Given the description of an element on the screen output the (x, y) to click on. 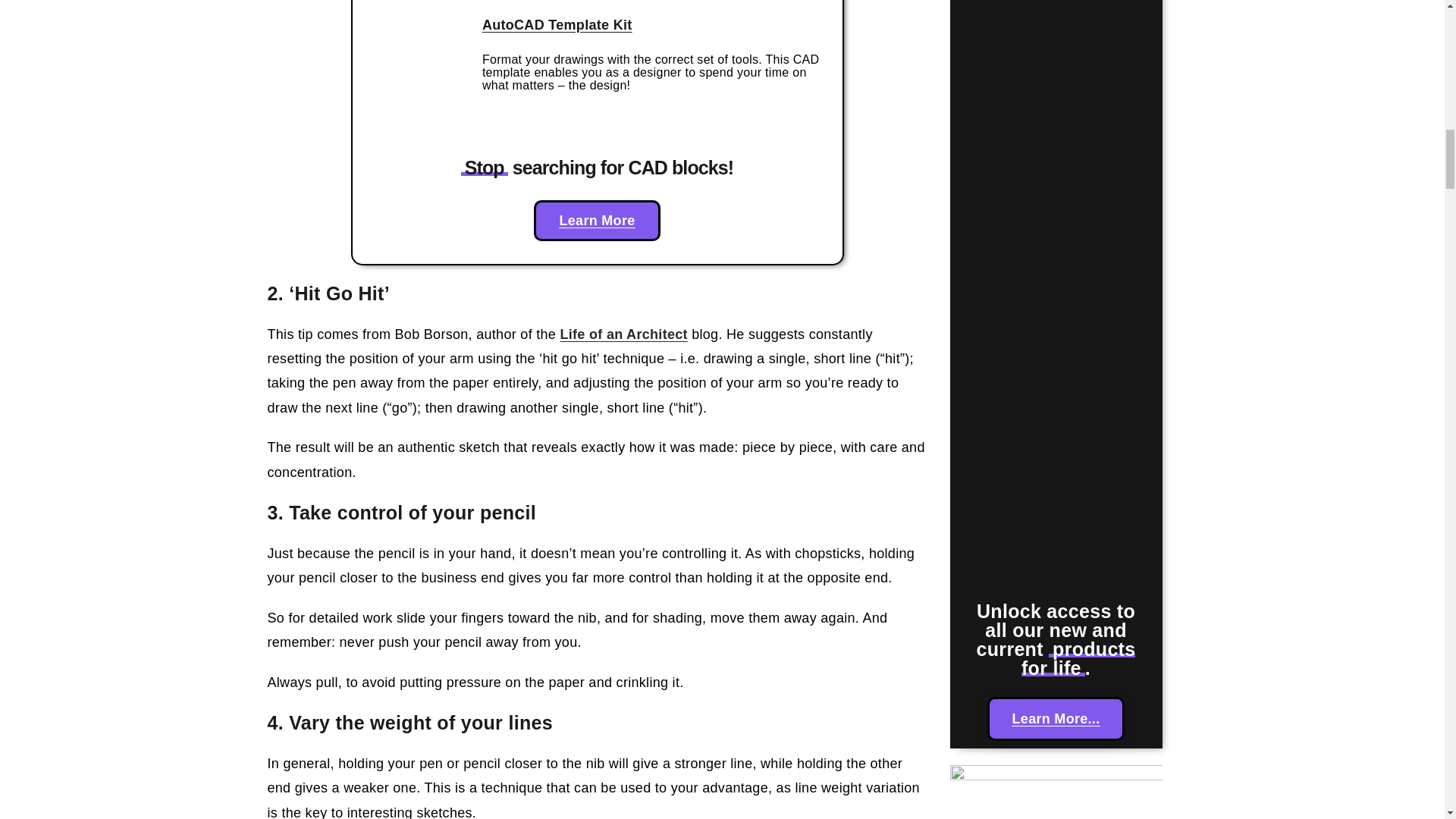
Learn More (596, 219)
Life of an Architect (623, 334)
AutoCAD Template Kit (556, 24)
